Given the description of an element on the screen output the (x, y) to click on. 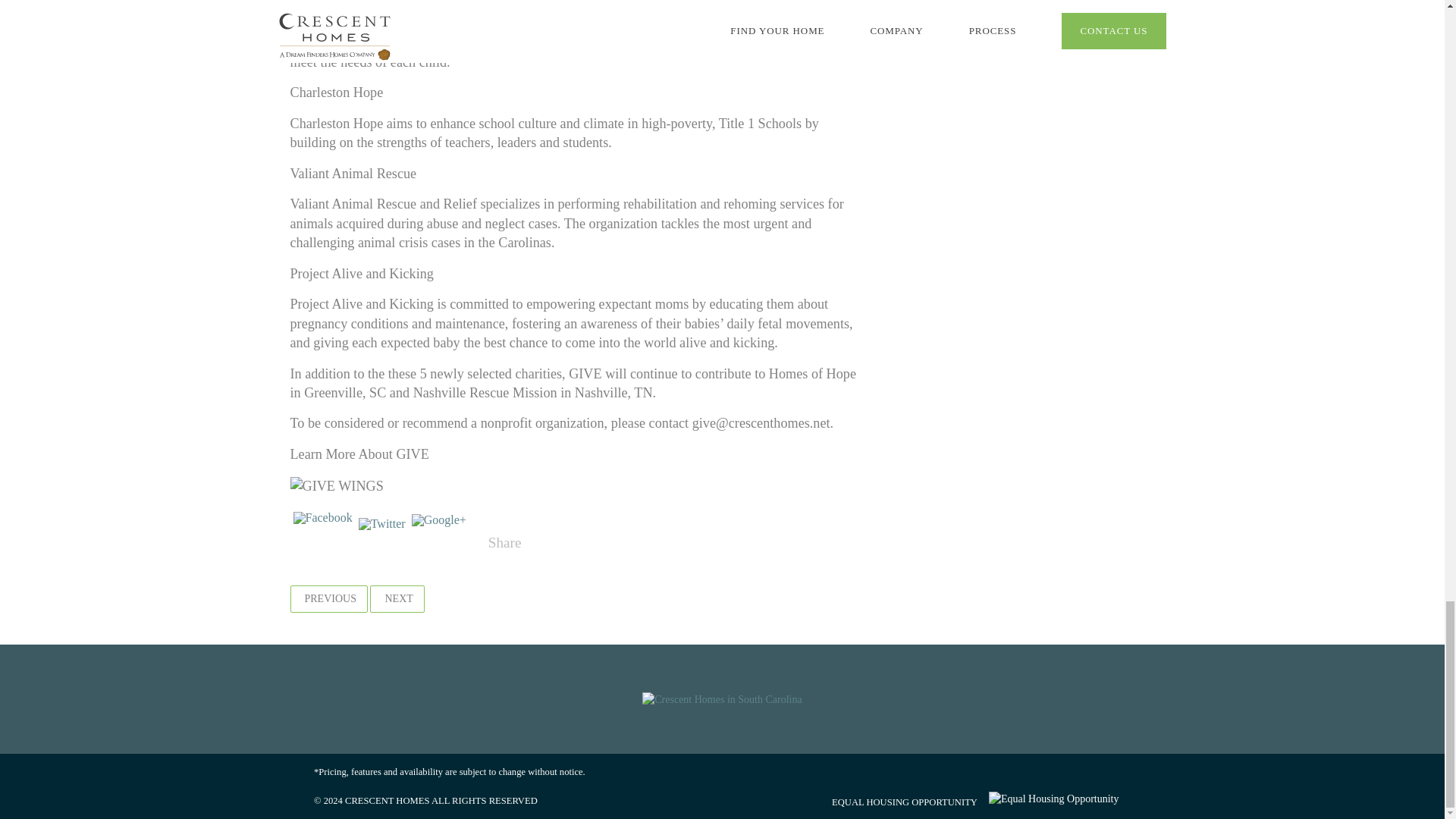
Facebook (322, 542)
Twitter (382, 542)
